Given the description of an element on the screen output the (x, y) to click on. 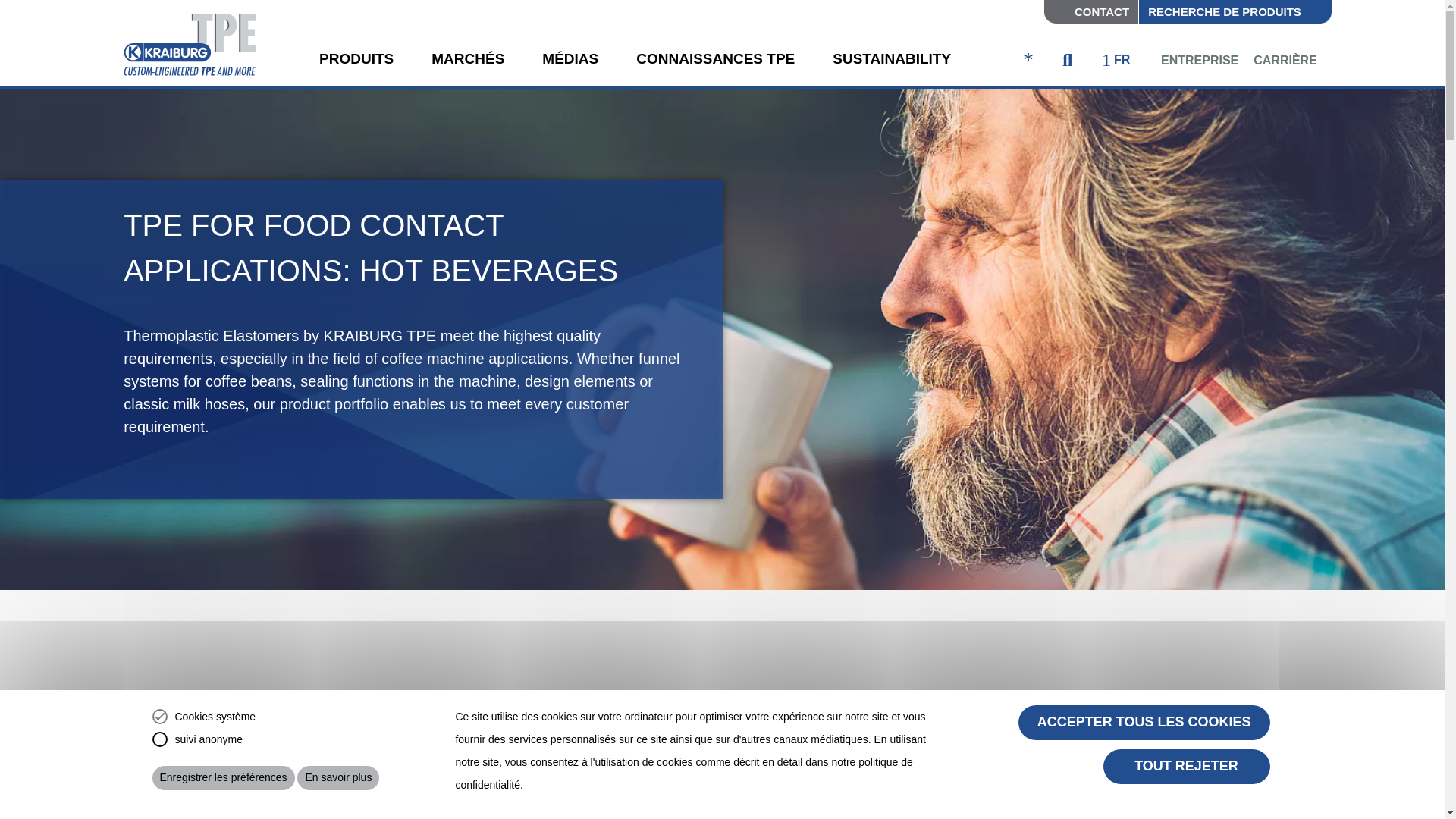
RECHERCHE DE PRODUITS (1235, 11)
CONNAISSANCES TPE (715, 62)
CONTACT (1090, 11)
PRODUITS (355, 62)
SUSTAINABILITY (891, 62)
